Given the description of an element on the screen output the (x, y) to click on. 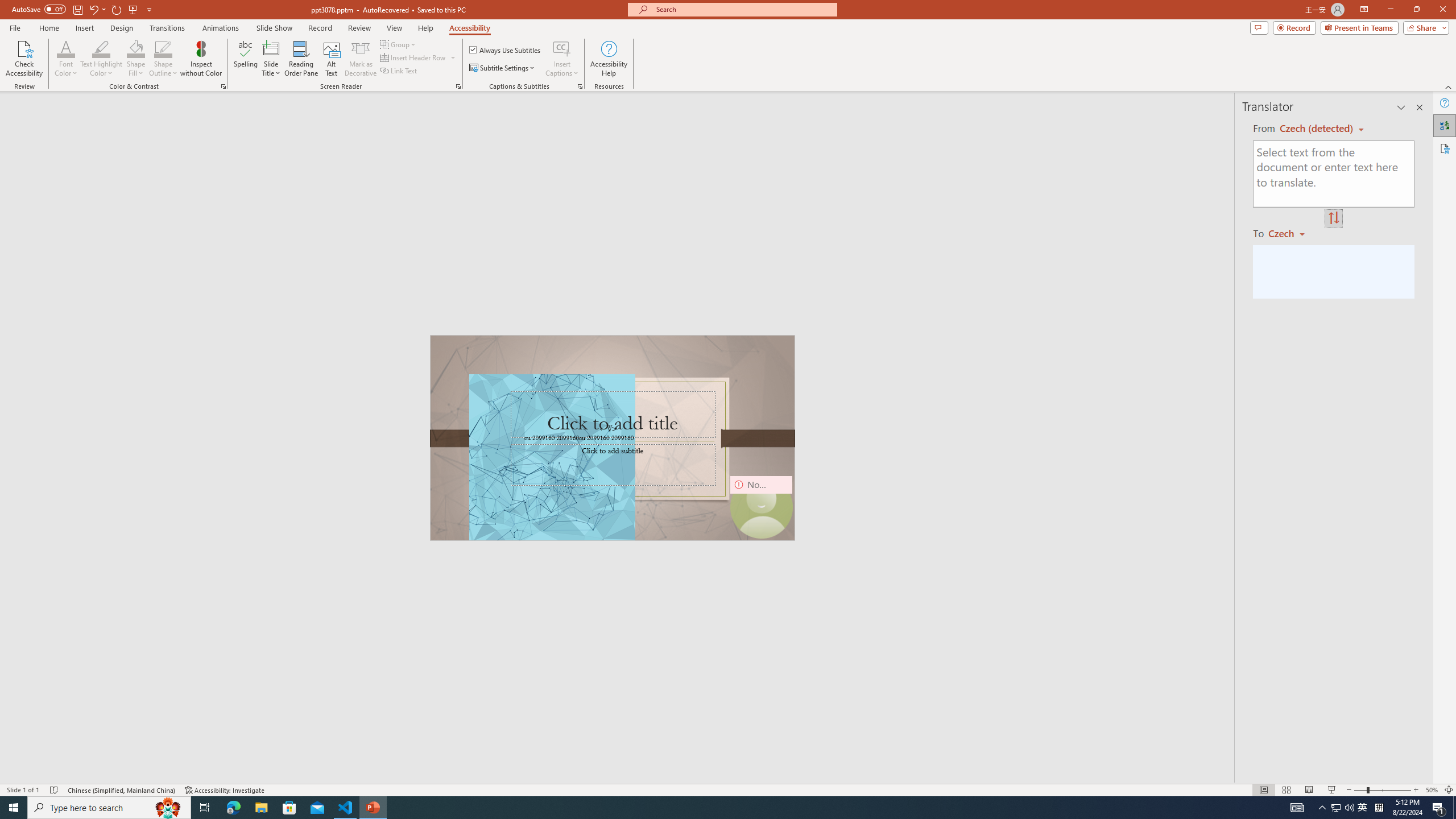
Inspect without Color (201, 58)
